Given the description of an element on the screen output the (x, y) to click on. 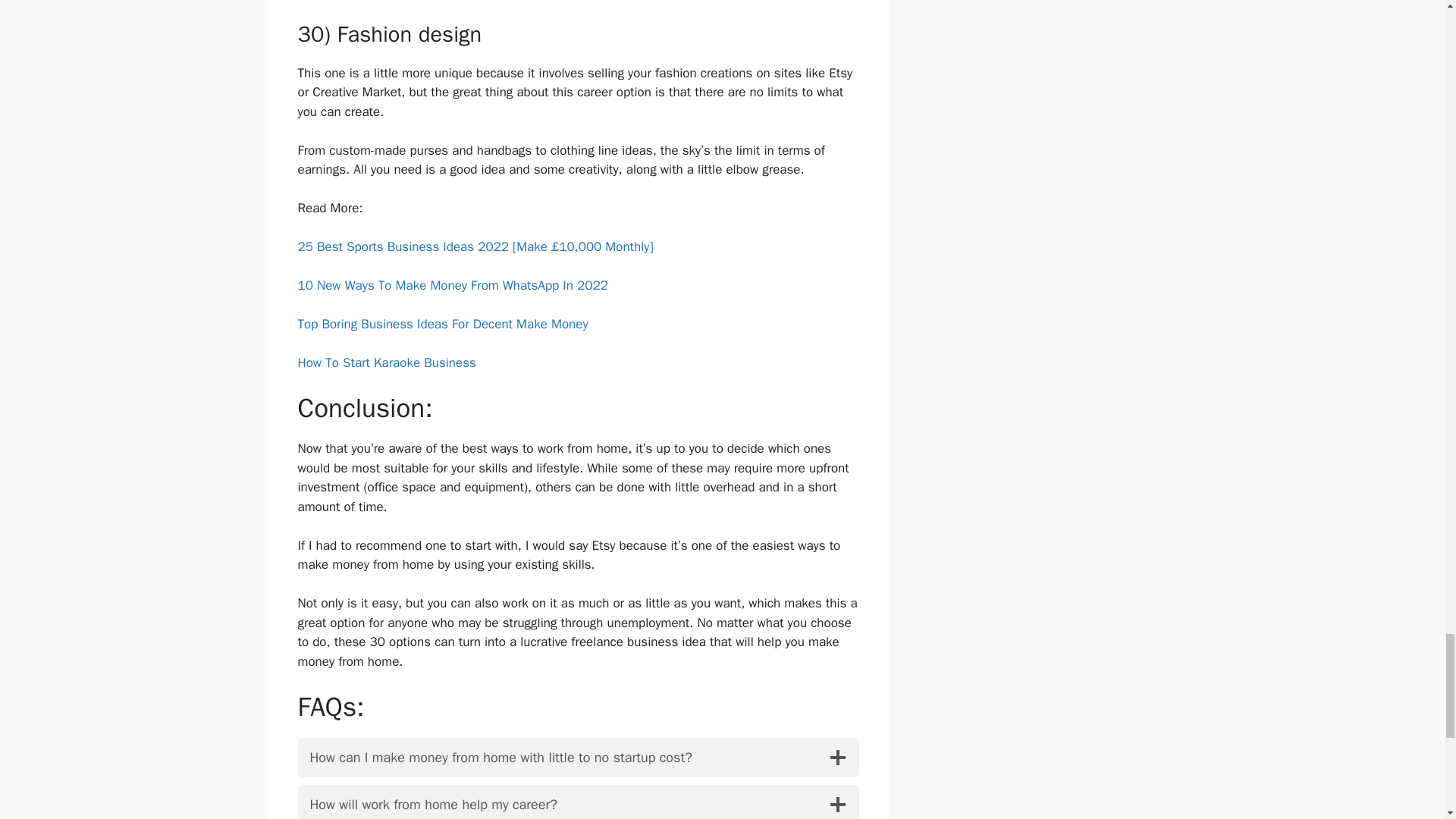
How will work from home help my career? (578, 801)
10 New Ways To Make Money From WhatsApp In 2022 (452, 285)
How To Start Karaoke Business (386, 362)
Top Boring Business Ideas For Decent Make Money (442, 324)
